Given the description of an element on the screen output the (x, y) to click on. 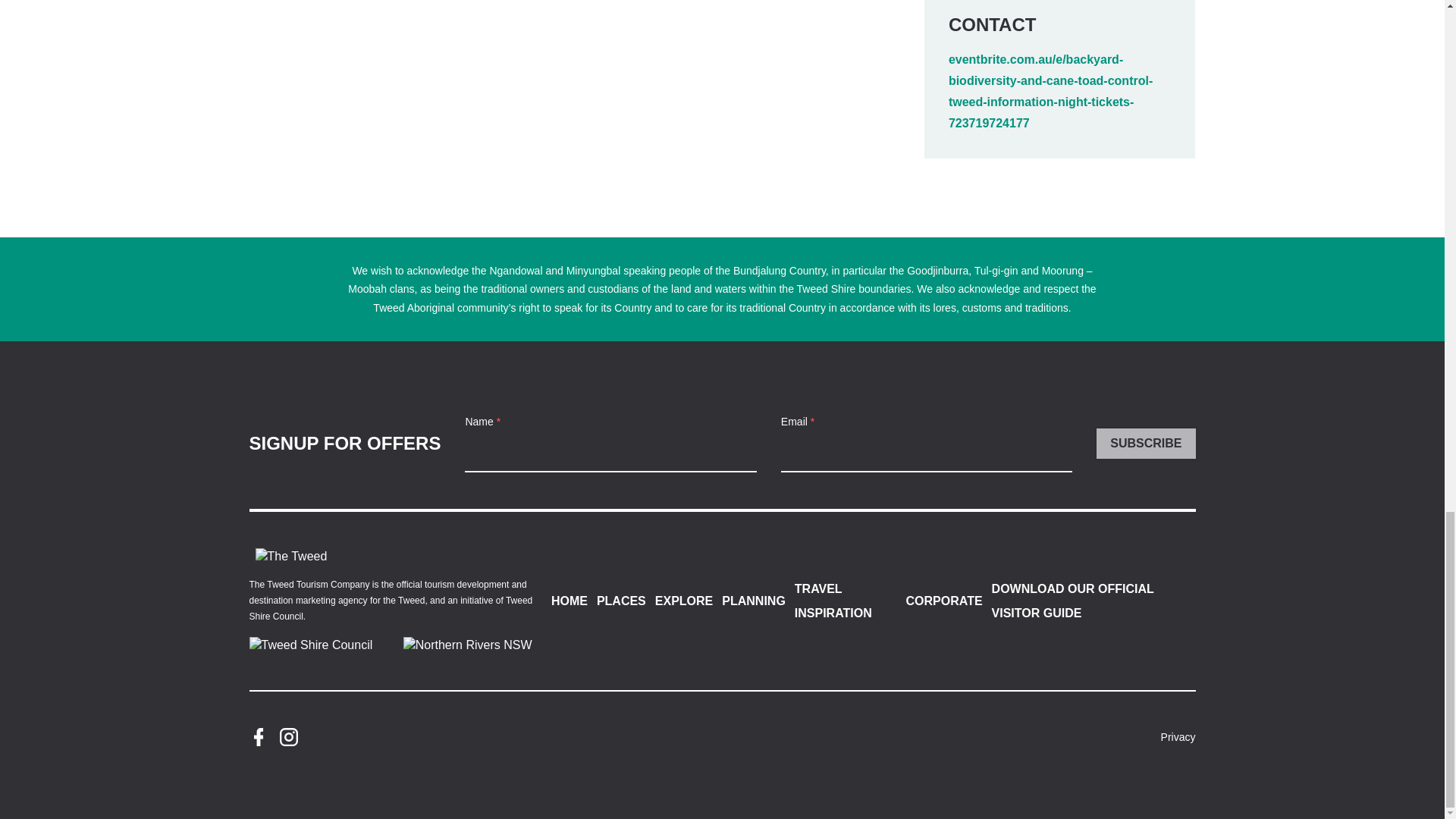
Tweed Shire Council (313, 645)
Northern Rivers NSW (467, 645)
Corporate (290, 556)
